Given the description of an element on the screen output the (x, y) to click on. 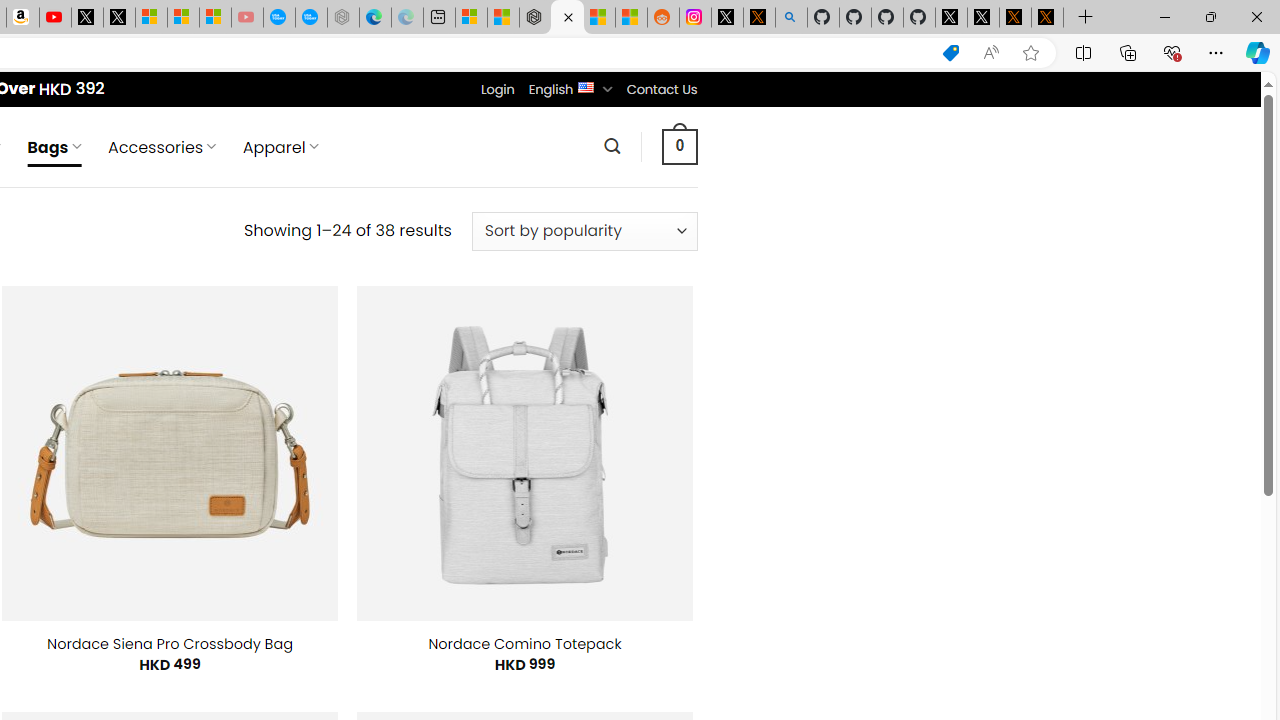
GitHub (@github) / X (983, 17)
Log in to X / X (727, 17)
 0  (679, 146)
Nordace - Nordace has arrived Hong Kong - Sleeping (343, 17)
Shop order (584, 231)
